Given the description of an element on the screen output the (x, y) to click on. 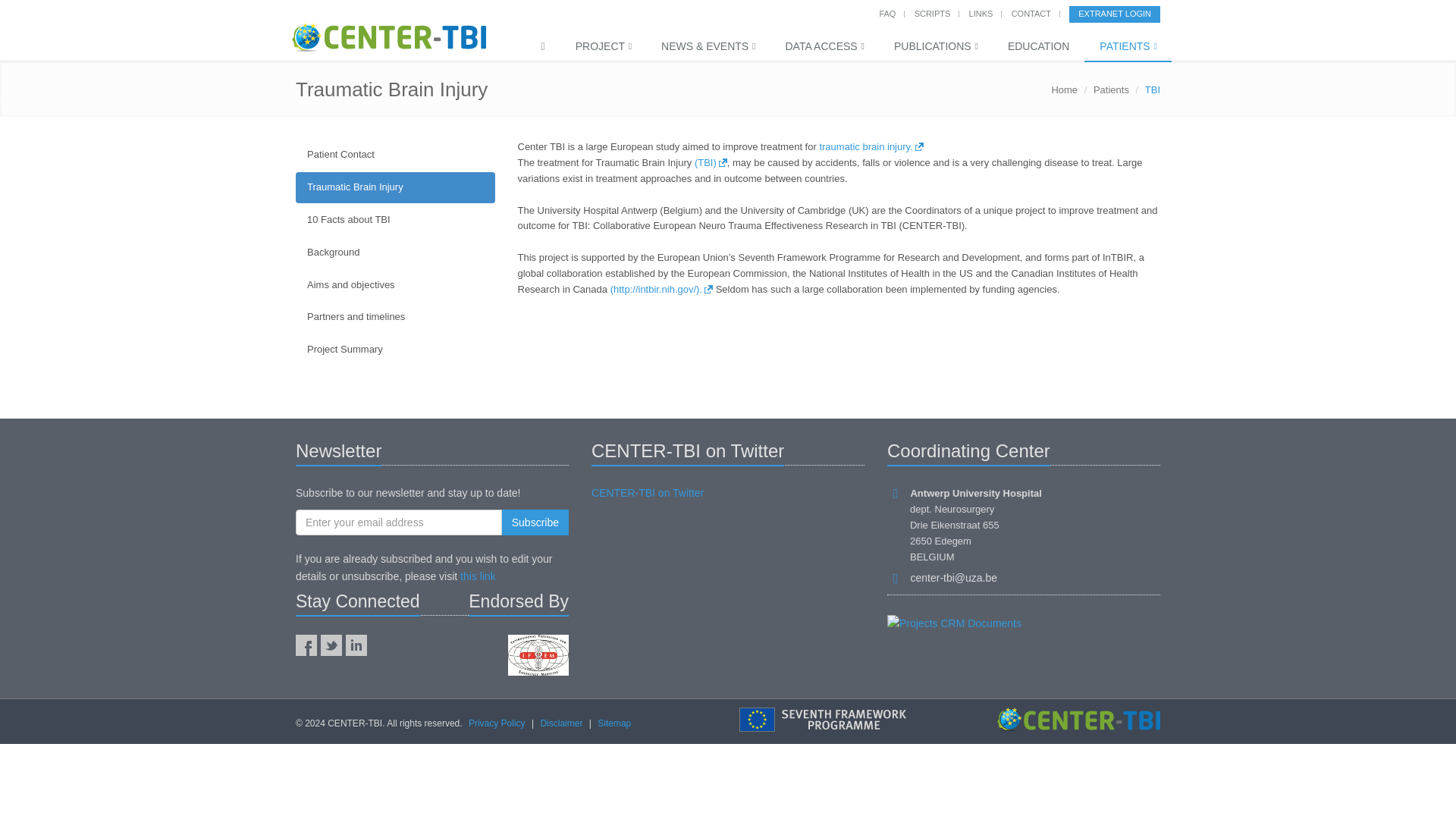
SCRIPTS (932, 13)
PROJECT (603, 46)
LINKS (980, 13)
EXTRANET LOGIN (1114, 13)
DATA ACCESS (824, 46)
Projects CRM Documents (954, 623)
CONTACT (1031, 13)
PUBLICATIONS (935, 46)
FAQ (887, 13)
